Given the description of an element on the screen output the (x, y) to click on. 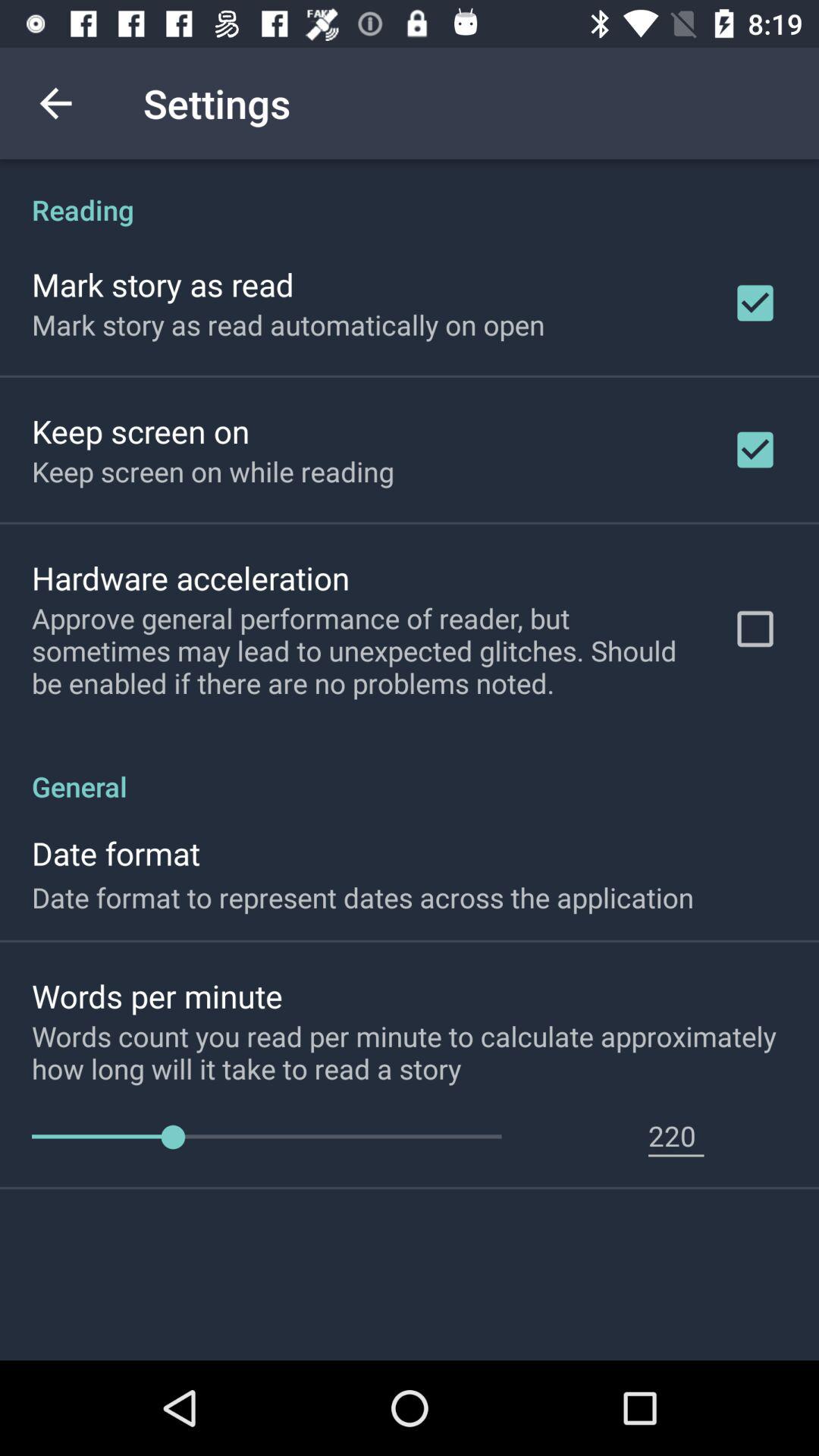
flip to 220 icon (676, 1135)
